Given the description of an element on the screen output the (x, y) to click on. 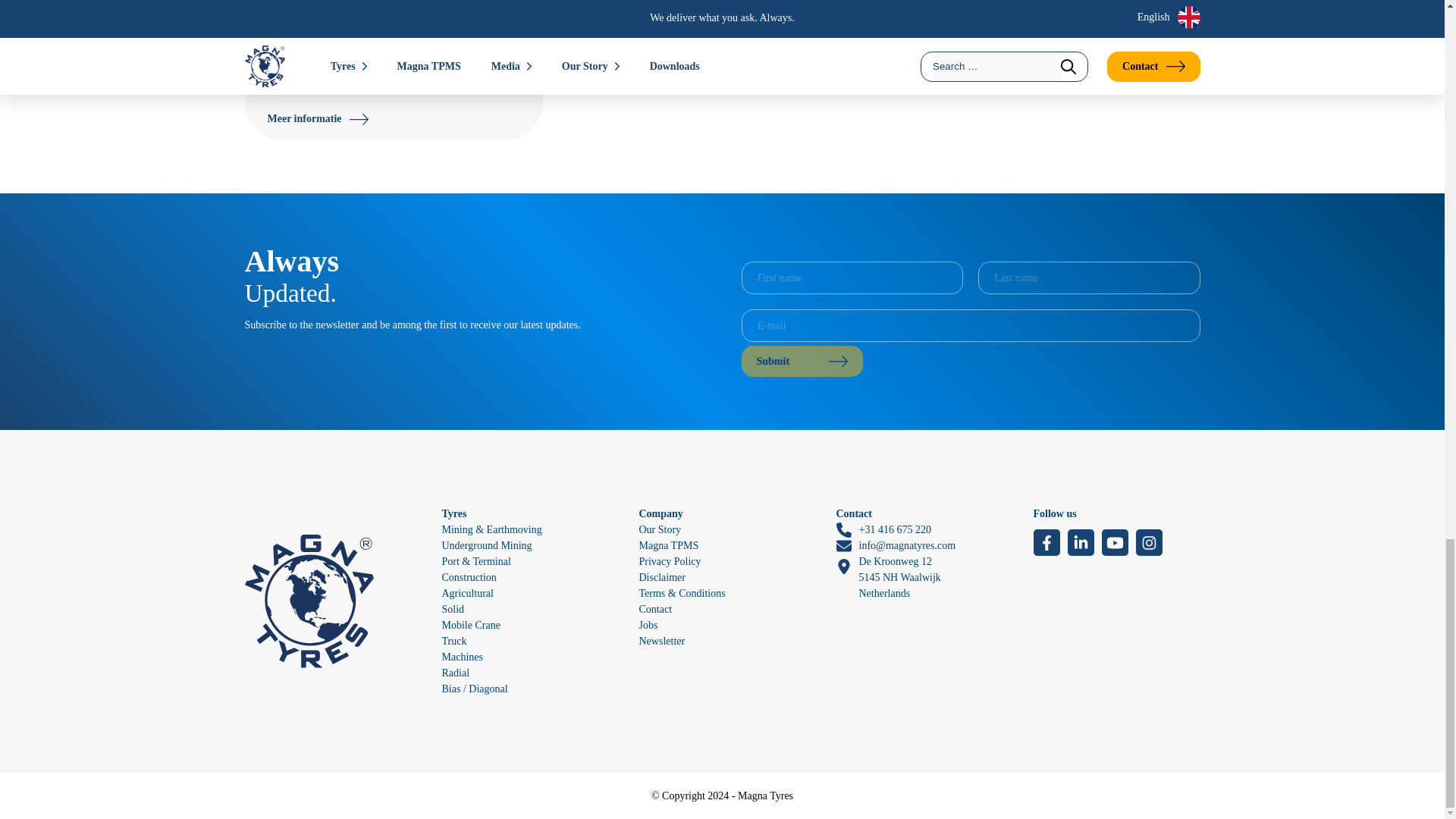
Meer informatie (317, 118)
Youtube (1113, 542)
Facebook (1045, 542)
Submit (802, 360)
instagram (1148, 542)
Mail ons (895, 545)
Linkedin (1080, 542)
MU26 (296, 6)
Bel ons (882, 529)
Underground Mining (486, 545)
